Given the description of an element on the screen output the (x, y) to click on. 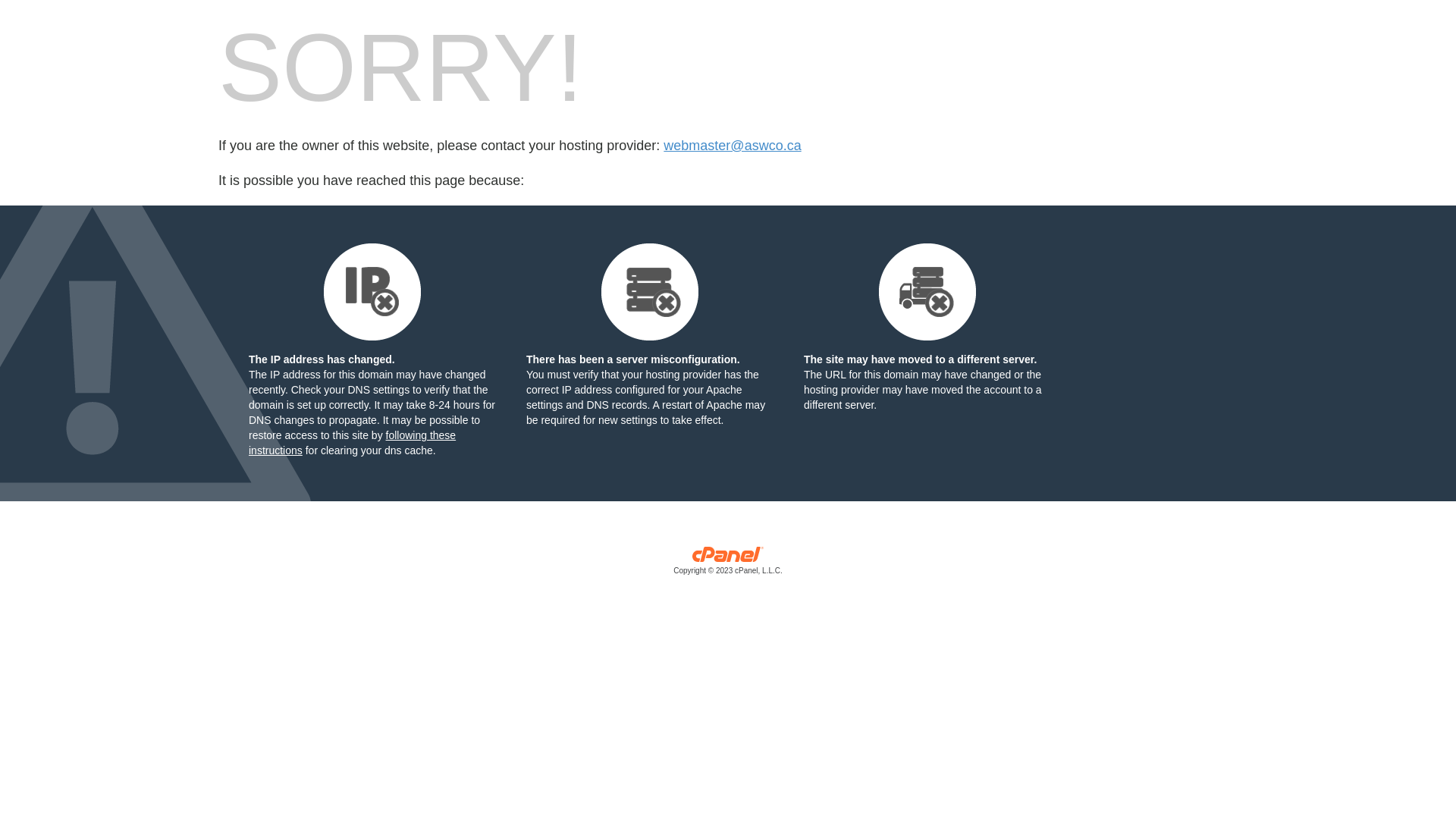
webmaster@aswco.ca Element type: text (731, 145)
following these instructions Element type: text (351, 442)
